Given the description of an element on the screen output the (x, y) to click on. 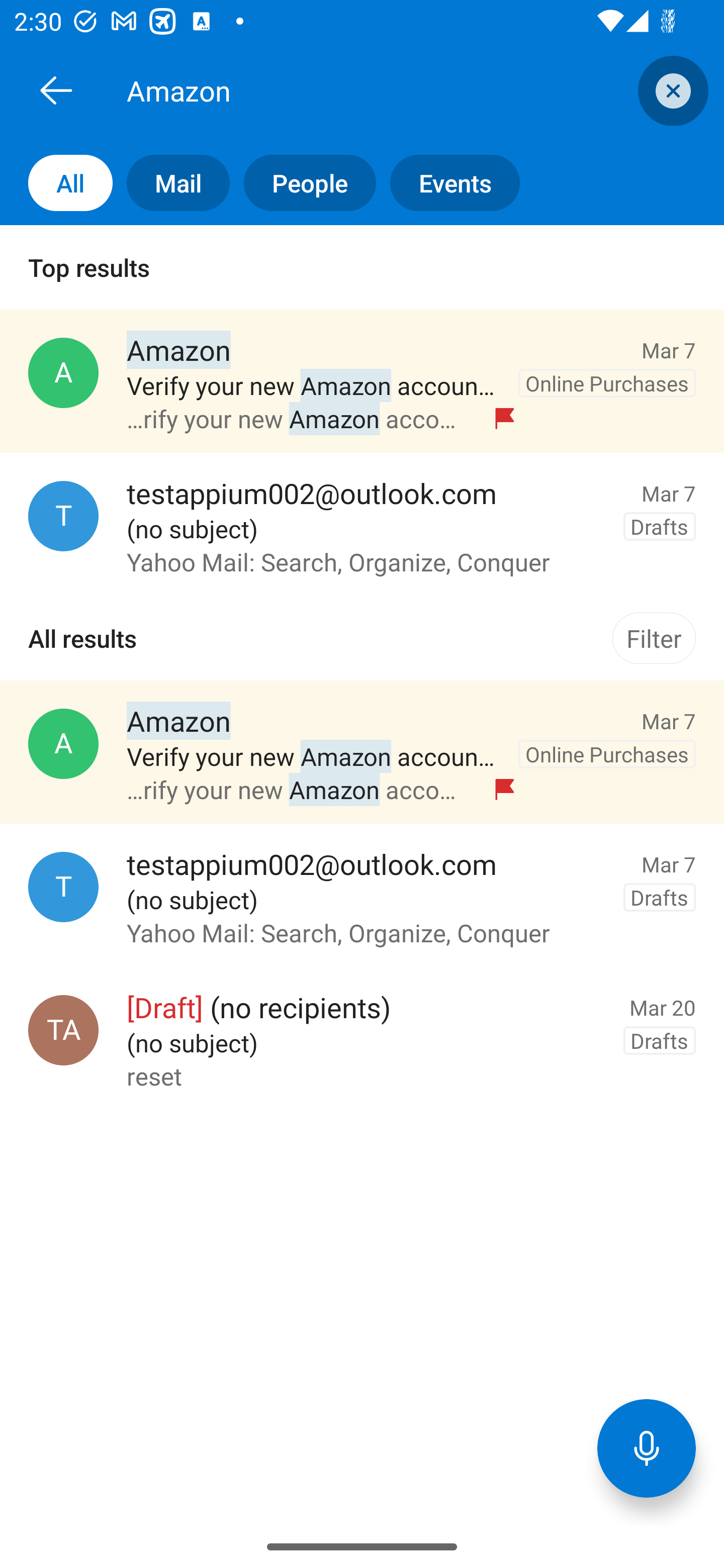
Back (55, 89)
Amazon (384, 89)
clear search (670, 90)
Mail (170, 183)
People (302, 183)
Events (447, 183)
Filter (653, 638)
Voice Assistant (646, 1447)
